Given the description of an element on the screen output the (x, y) to click on. 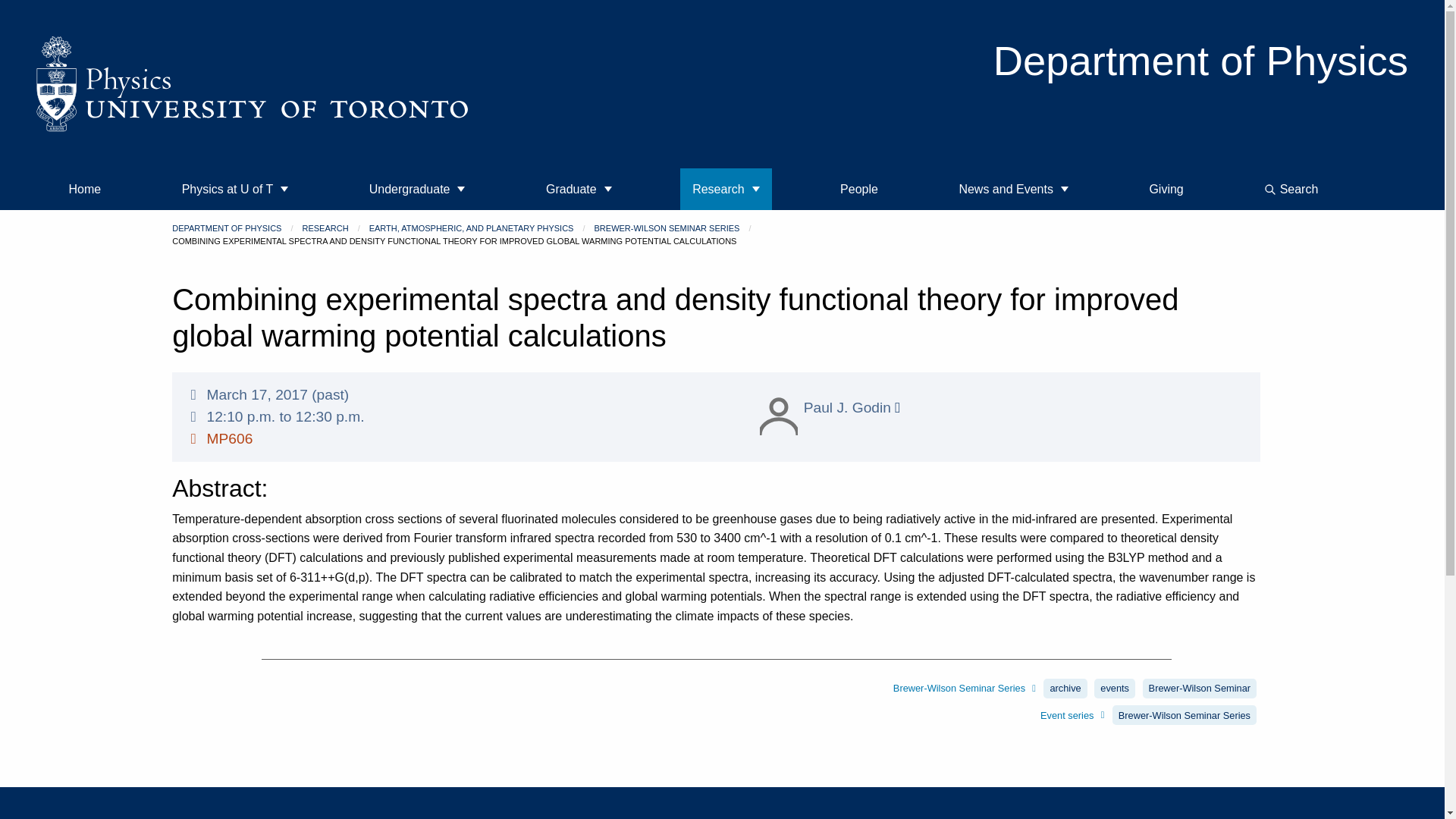
Undergraduate (416, 188)
Home (84, 188)
Physics at U of T (235, 188)
Graduate (579, 188)
